Given the description of an element on the screen output the (x, y) to click on. 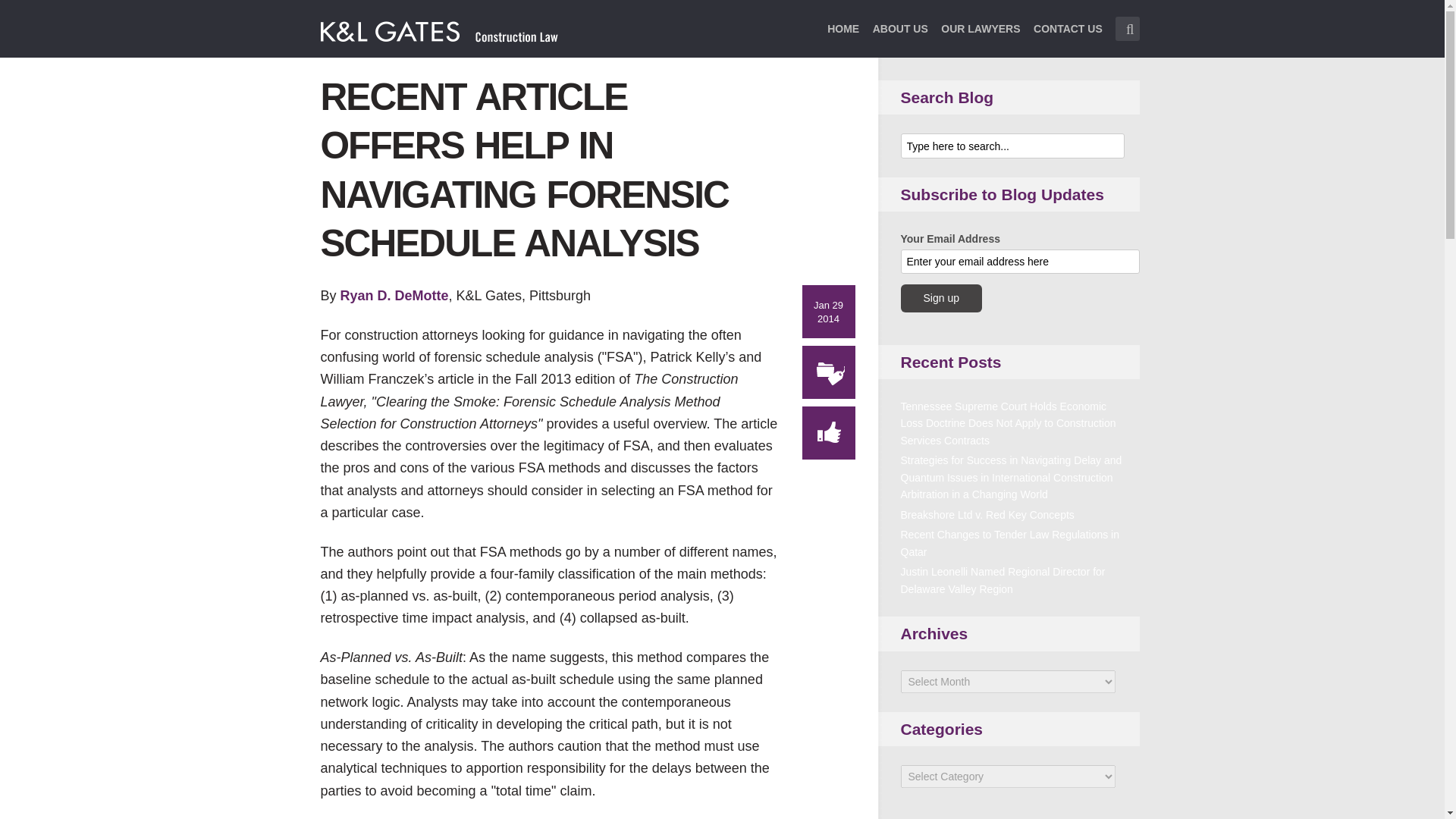
OUR LAWYERS (980, 37)
Type here to search... (1012, 145)
Type here to search... (1012, 145)
Enter your email address here (1020, 261)
ABOUT US (900, 37)
Sign up (941, 298)
Ryan D. DeMotte (394, 295)
CONTACT US (1067, 37)
Construction Law (440, 30)
Type here to search... (1126, 28)
HOME (843, 37)
Type here to search... (1126, 28)
Recent Changes to Tender Law Regulations in Qatar (1010, 542)
